Given the description of an element on the screen output the (x, y) to click on. 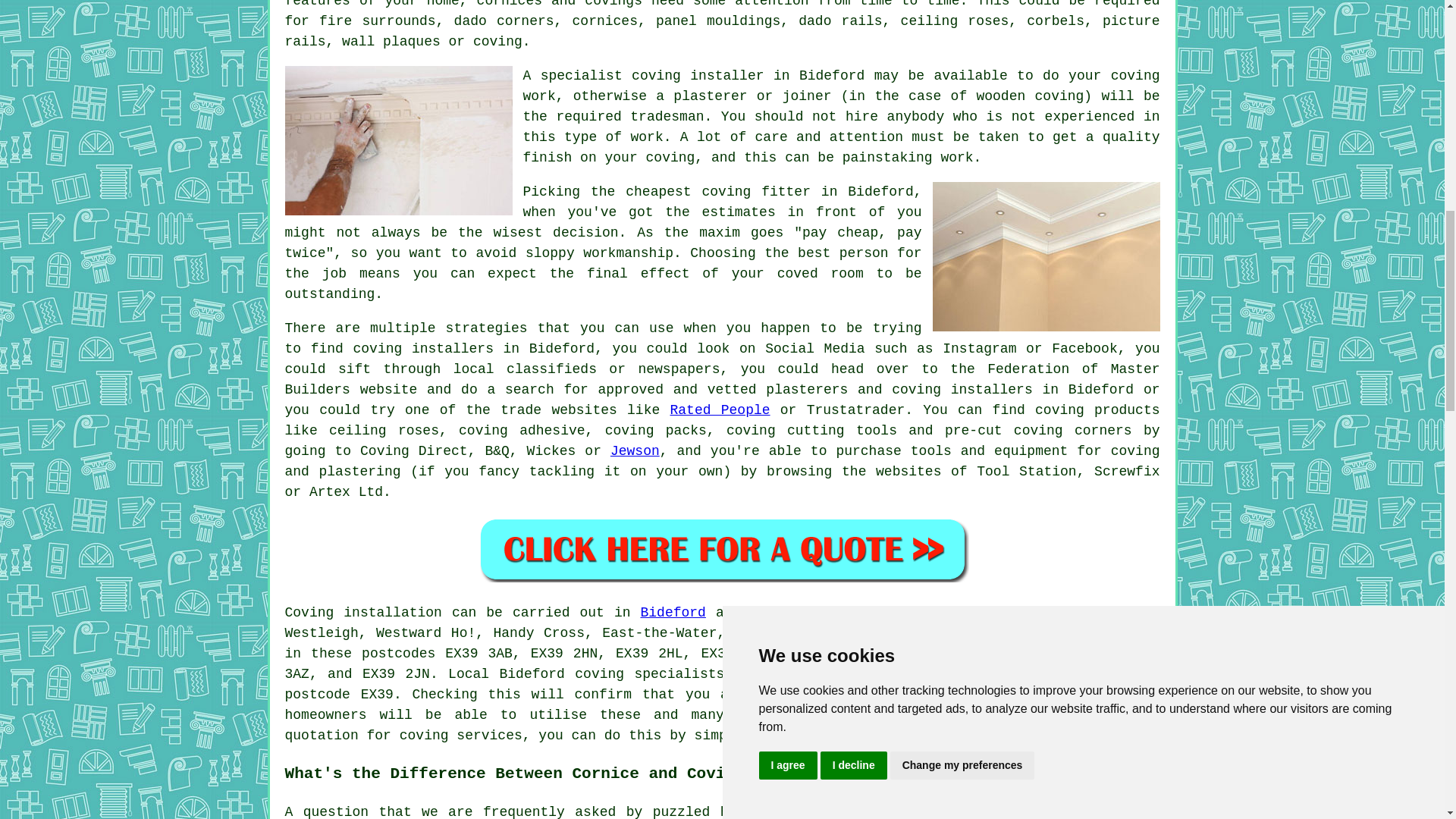
Coving installation (363, 612)
coving specialists (649, 673)
coving fitters (1016, 694)
Coving Fitters Bideford EX39 (398, 140)
